Given the description of an element on the screen output the (x, y) to click on. 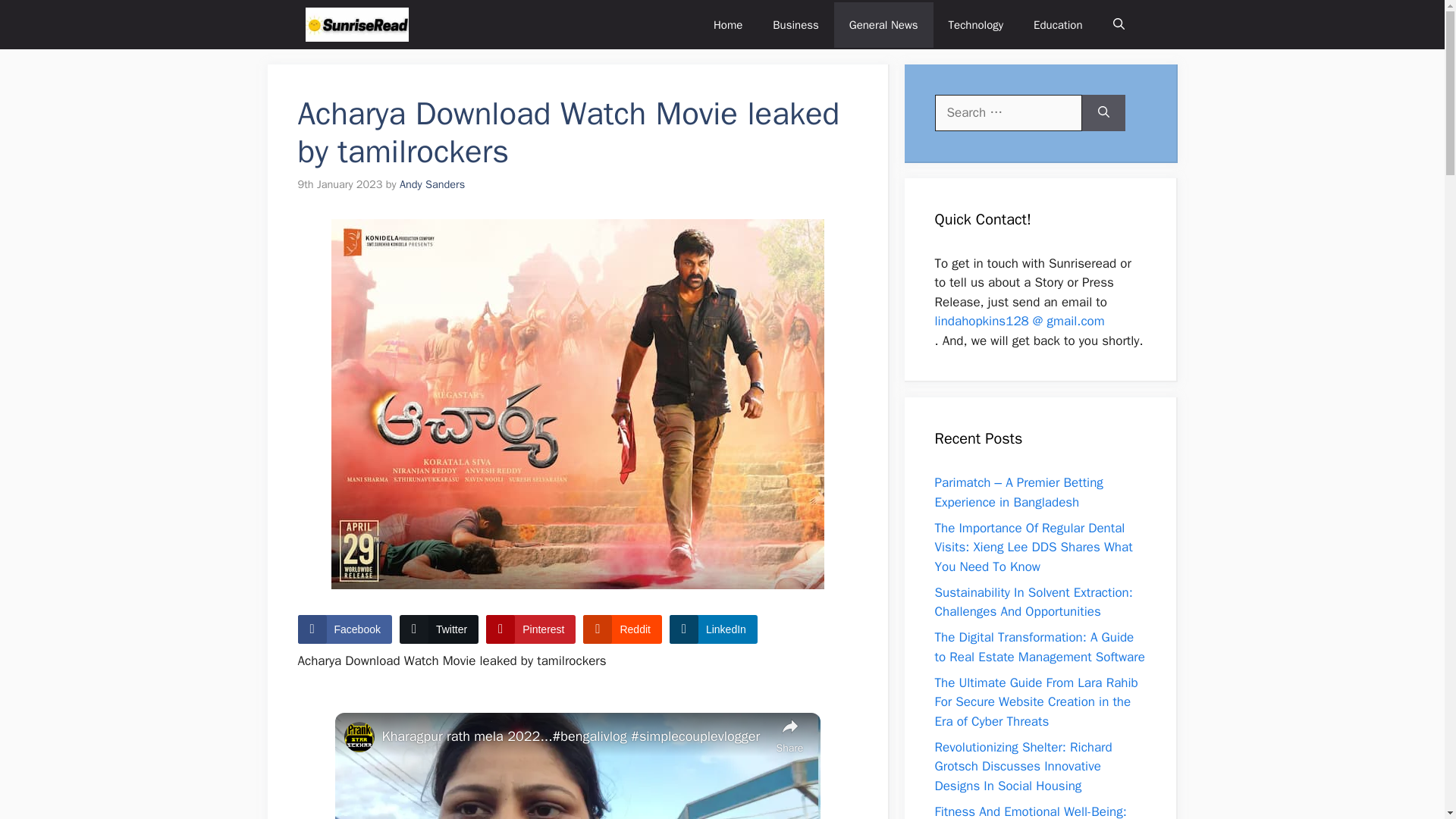
Pinterest (530, 629)
Technology (976, 23)
Twitter (438, 629)
Reddit (622, 629)
Facebook (344, 629)
LinkedIn (713, 629)
Home (727, 23)
Search for: (1007, 113)
Sunriseread (355, 24)
Andy Sanders (431, 183)
